Given the description of an element on the screen output the (x, y) to click on. 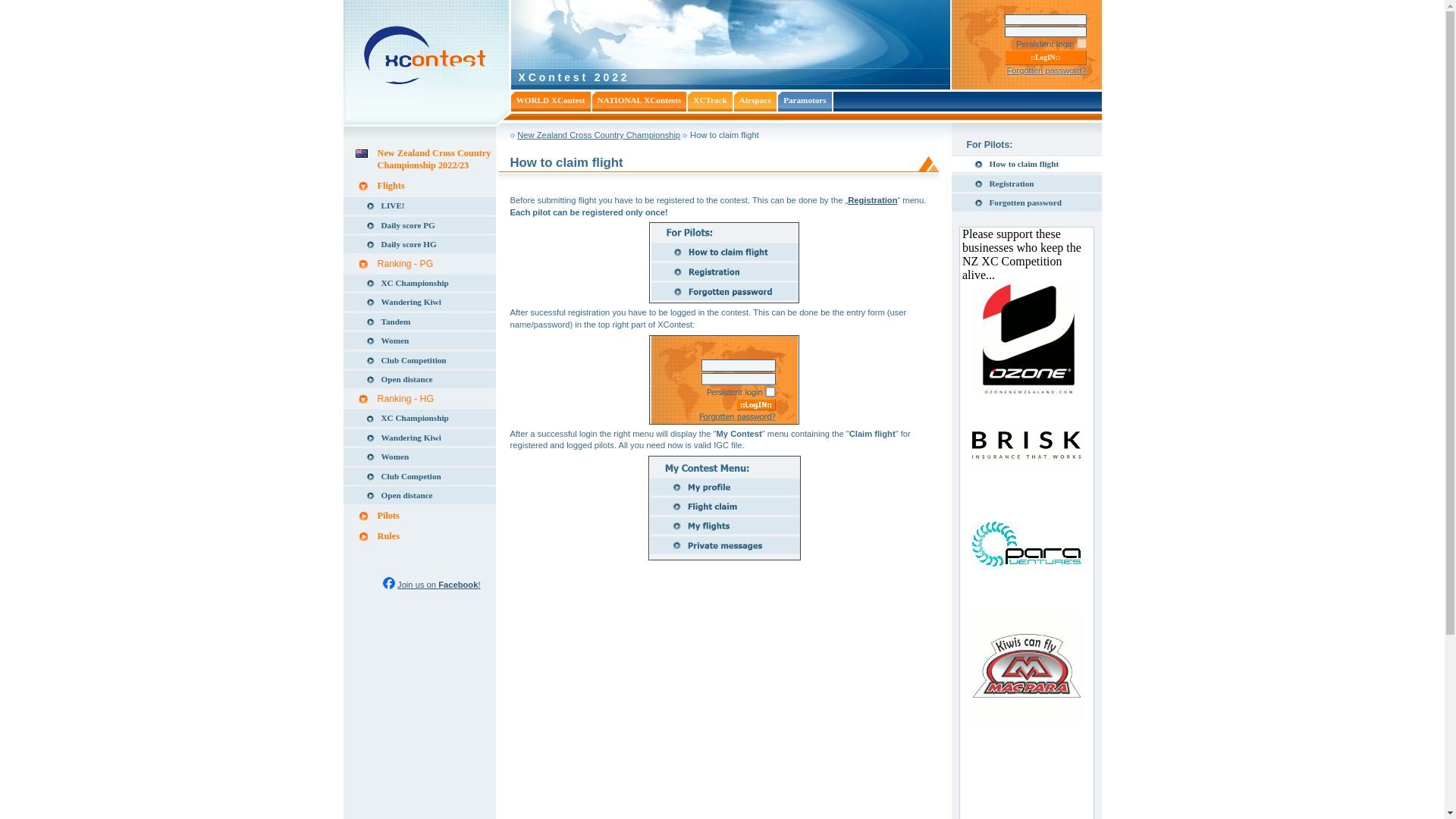
NATIONAL XContests (639, 99)
Airspace (754, 99)
Y (1081, 43)
XCTrack (709, 99)
Airspace tools (754, 99)
XC Championship (418, 417)
Rules (418, 536)
Club Competion (418, 476)
Open distance (418, 379)
::LogIN:: (1045, 57)
Open distance (418, 495)
World XContest (551, 99)
Pilots (418, 515)
XC Championship (418, 282)
Wandering Kiwi (418, 437)
